Given the description of an element on the screen output the (x, y) to click on. 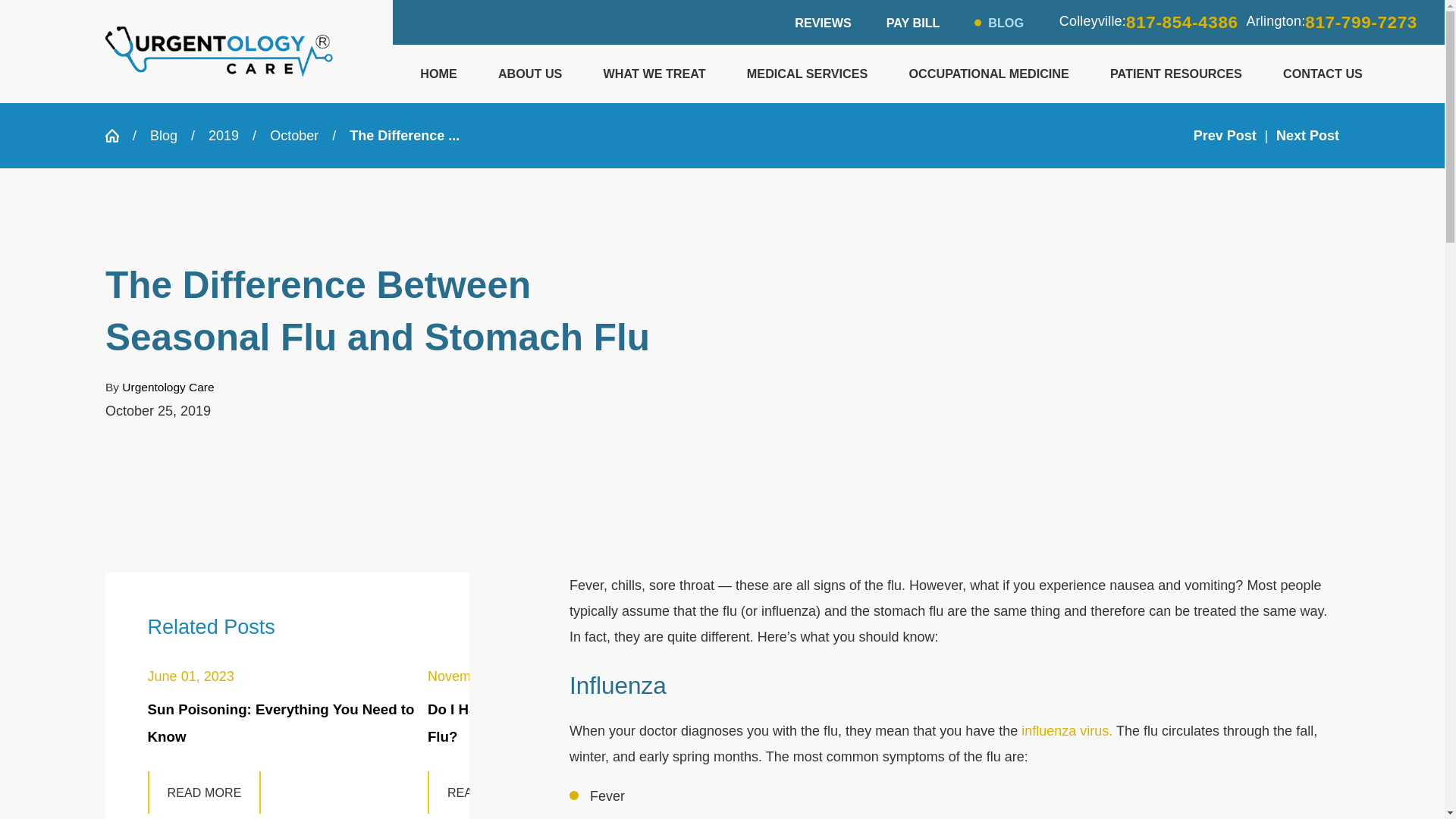
BLOG (1005, 22)
ABOUT US (531, 74)
Go Home (118, 135)
REVIEWS (822, 22)
817-799-7273 (1360, 22)
HOME (439, 74)
WHAT WE TREAT (655, 74)
817-854-4386 (1182, 22)
Urgentology Care (218, 51)
PAY BILL (913, 22)
